Given the description of an element on the screen output the (x, y) to click on. 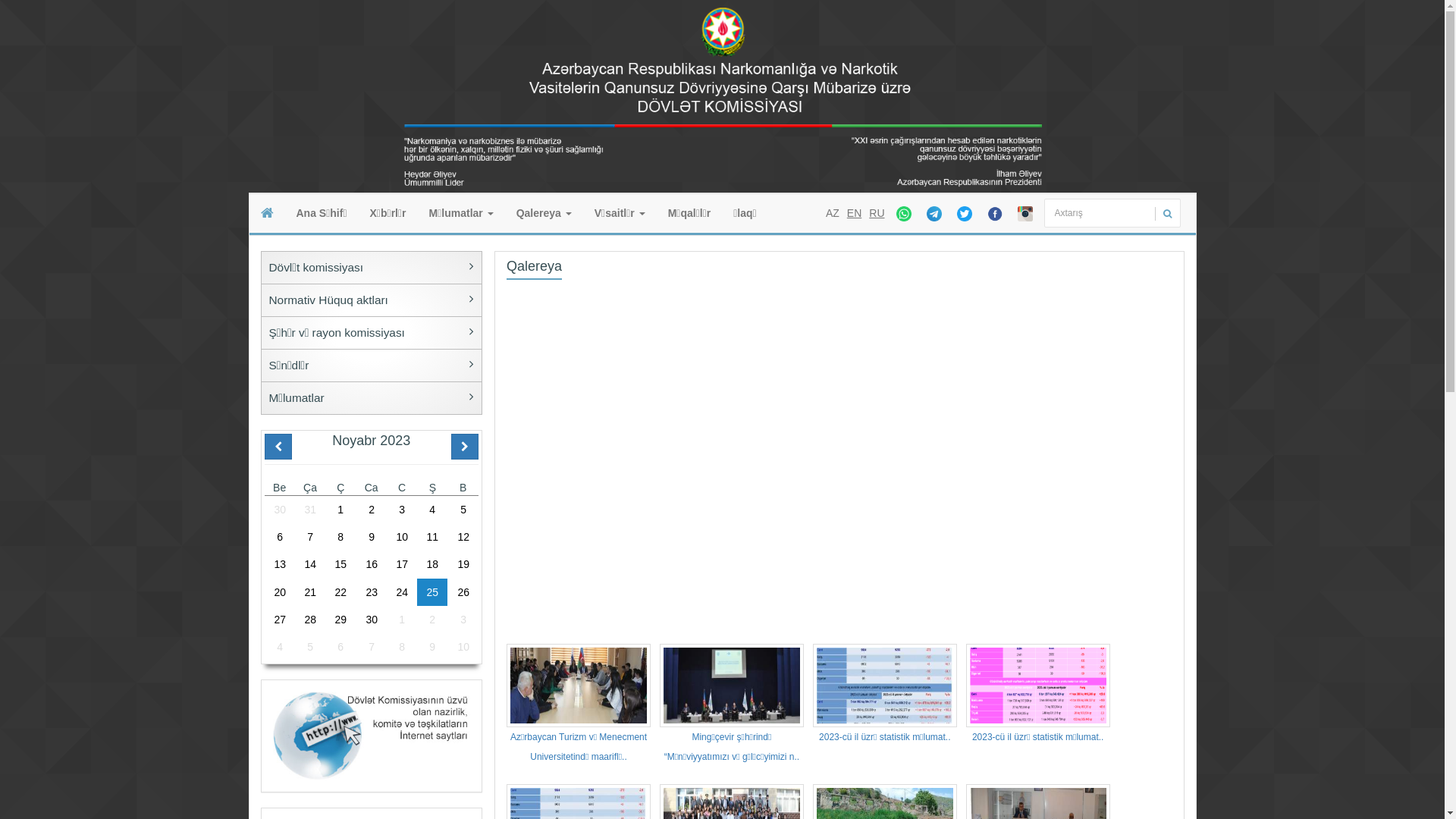
13 Element type: text (278, 563)
10 Element type: text (401, 536)
2 Element type: text (371, 509)
30 Element type: text (371, 619)
4 Element type: text (278, 646)
5 Element type: text (463, 509)
27 Element type: text (278, 619)
RU Element type: text (876, 213)
8 Element type: text (340, 536)
22 Element type: text (340, 591)
12 Element type: text (463, 536)
8 Element type: text (401, 646)
25 Element type: text (432, 591)
19 Element type: text (463, 563)
24 Element type: text (401, 591)
9 Element type: text (432, 646)
5 Element type: text (309, 646)
Qalereya Element type: text (544, 213)
10 Element type: text (463, 646)
31 Element type: text (309, 509)
21 Element type: text (309, 591)
30 Element type: text (278, 509)
7 Element type: text (309, 536)
2 Element type: text (432, 619)
26 Element type: text (463, 591)
29 Element type: text (340, 619)
1 Element type: text (340, 509)
17 Element type: text (401, 563)
18 Element type: text (432, 563)
7 Element type: text (371, 646)
6 Element type: text (278, 536)
28 Element type: text (309, 619)
1 Element type: text (401, 619)
20 Element type: text (278, 591)
16 Element type: text (371, 563)
23 Element type: text (371, 591)
11 Element type: text (432, 536)
4 Element type: text (432, 509)
6 Element type: text (340, 646)
3 Element type: text (463, 619)
3 Element type: text (401, 509)
9 Element type: text (371, 536)
15 Element type: text (340, 563)
14 Element type: text (309, 563)
AZ Element type: text (832, 213)
EN Element type: text (854, 213)
